Given the description of an element on the screen output the (x, y) to click on. 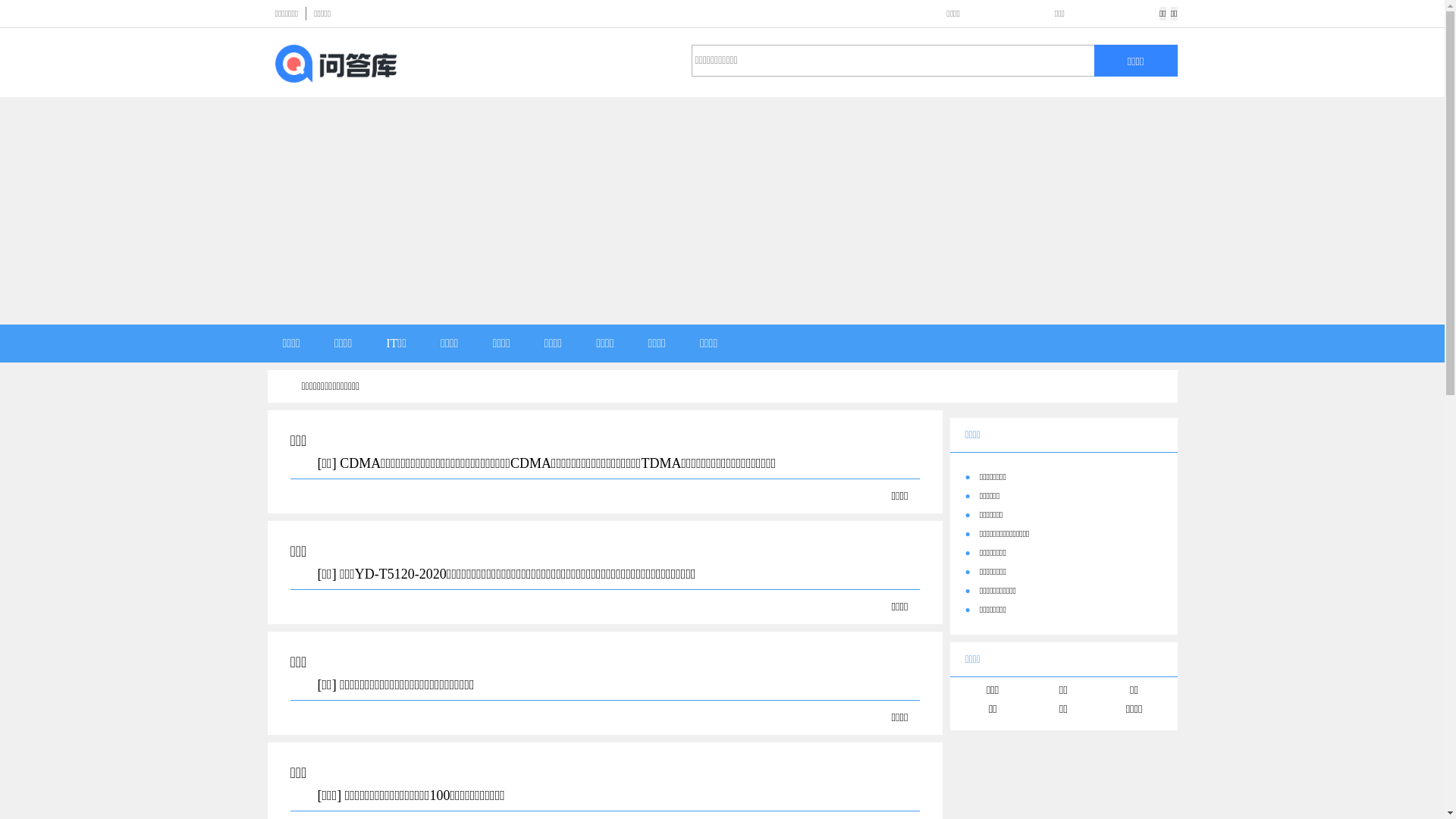
Advertisement Element type: hover (721, 210)
